Given the description of an element on the screen output the (x, y) to click on. 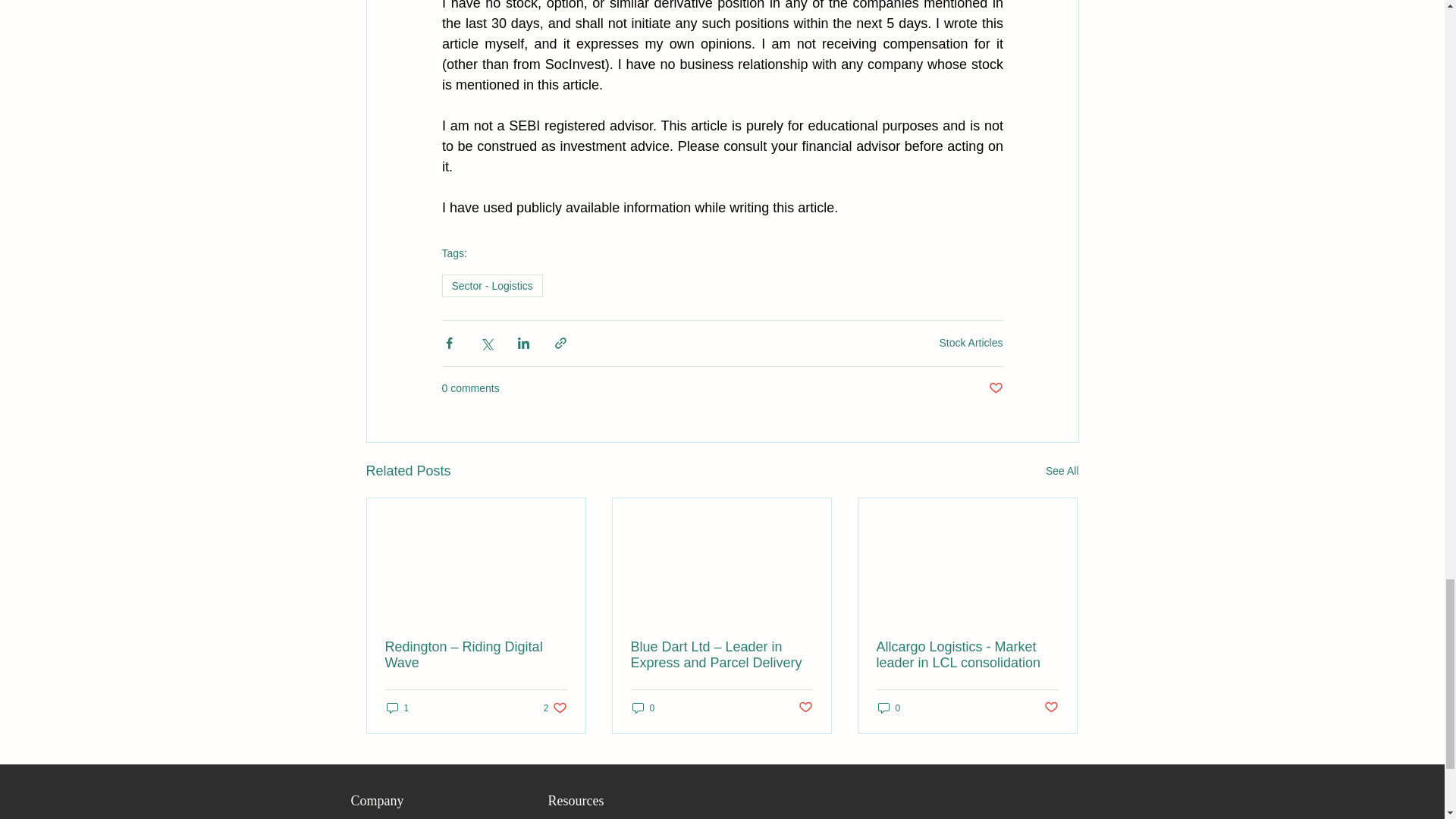
See All (1061, 471)
0 (643, 707)
1 (397, 707)
Post not marked as liked (804, 707)
Post not marked as liked (1050, 707)
Post not marked as liked (555, 707)
Sector - Logistics (995, 388)
Allcargo Logistics - Market leader in LCL consolidation (491, 285)
Stock Articles (967, 654)
